Given the description of an element on the screen output the (x, y) to click on. 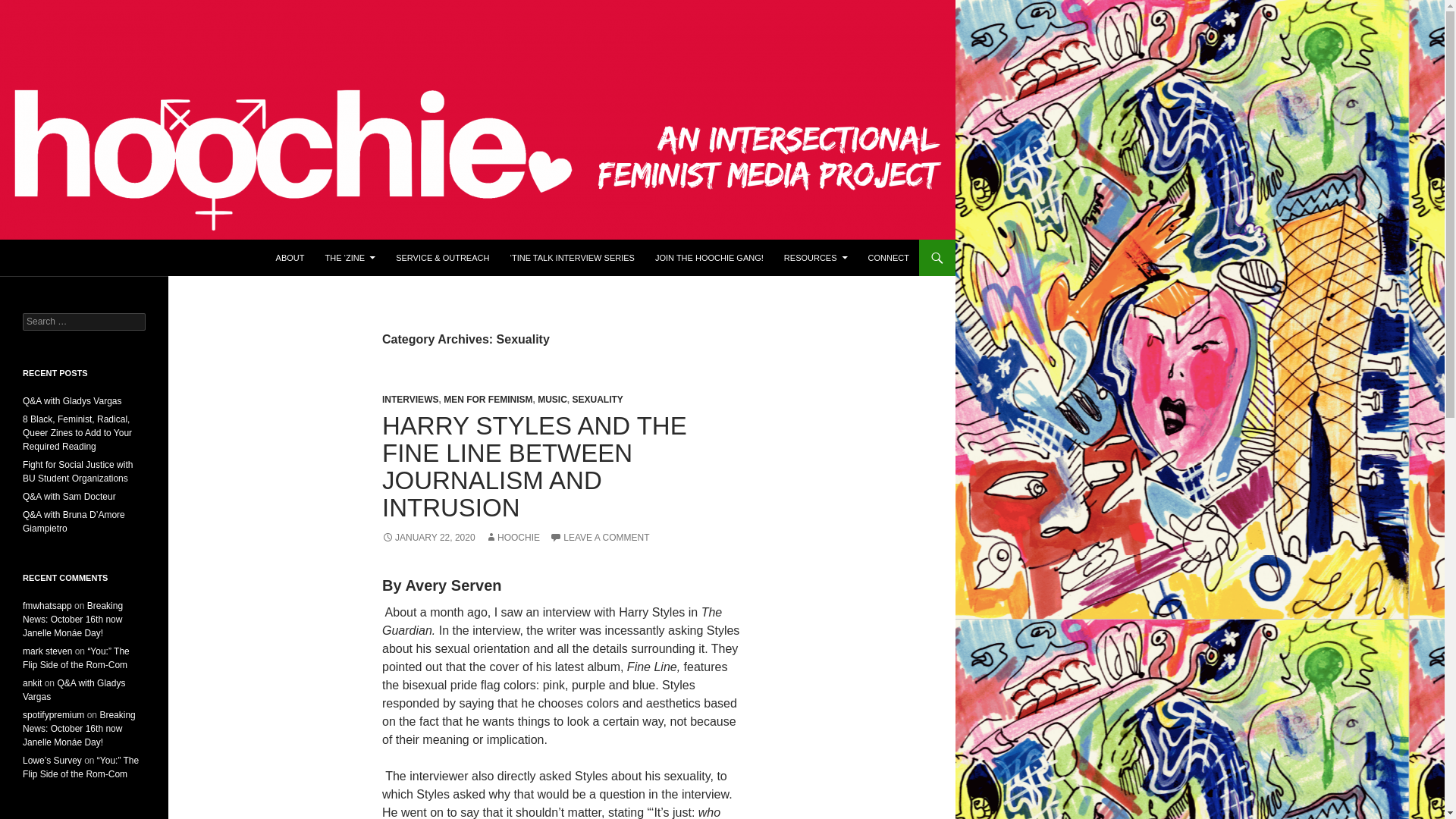
hoochie (49, 257)
HOOCHIE (512, 537)
MEN FOR FEMINISM (488, 398)
ABOUT (290, 257)
LEAVE A COMMENT (599, 537)
fmwhatsapp (47, 605)
Fight for Social Justice with BU Student Organizations (77, 471)
JOIN THE HOOCHIE GANG! (709, 257)
INTERVIEWS (409, 398)
SEXUALITY (597, 398)
Search (30, 8)
MUSIC (552, 398)
